Given the description of an element on the screen output the (x, y) to click on. 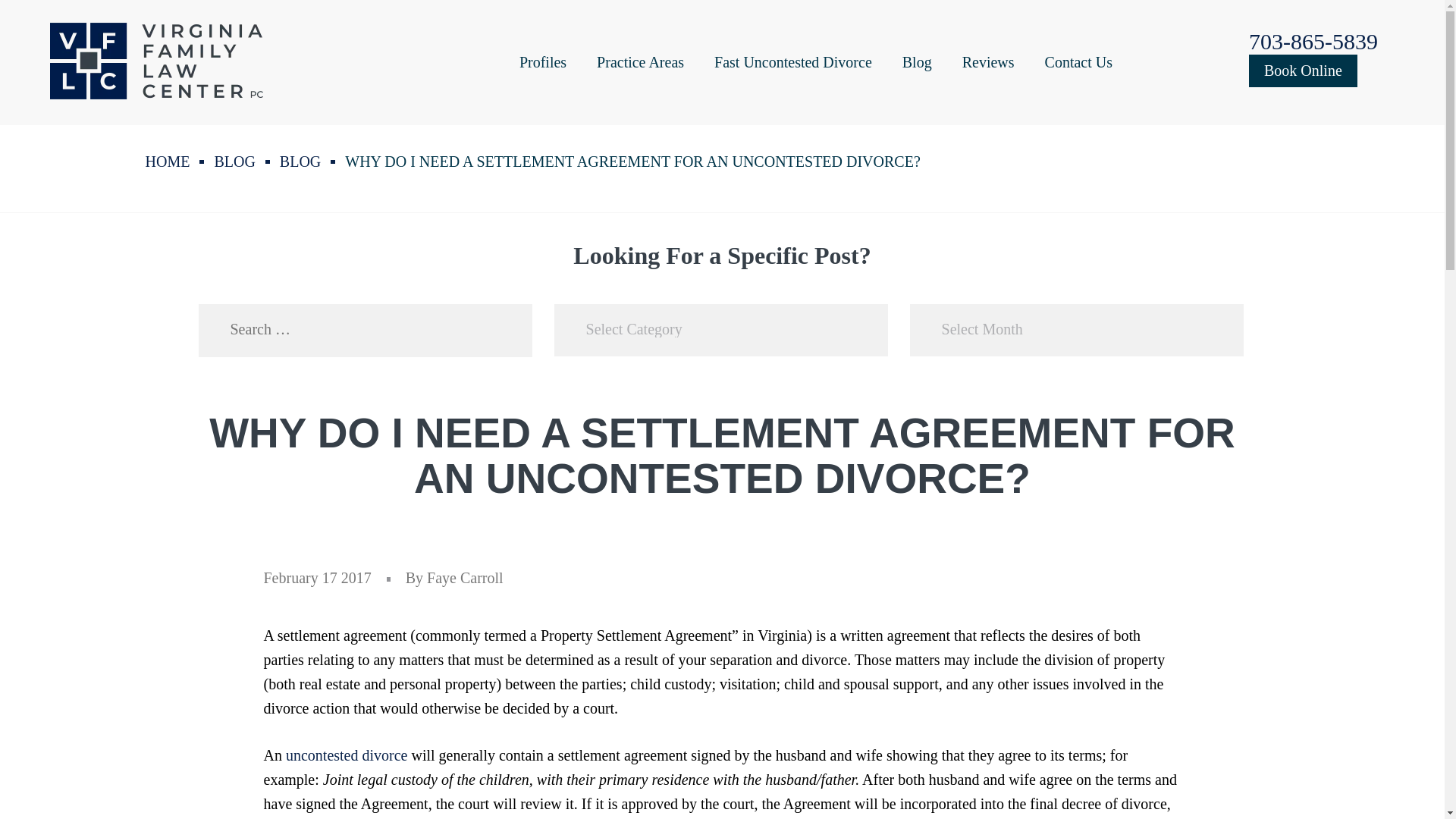
Search (495, 330)
Go to the Blog category archives. (299, 161)
Search (495, 330)
Go to Virginia Family Law. (167, 161)
Practice Areas (640, 62)
Go to Blog. (234, 161)
Profiles (542, 62)
